Given the description of an element on the screen output the (x, y) to click on. 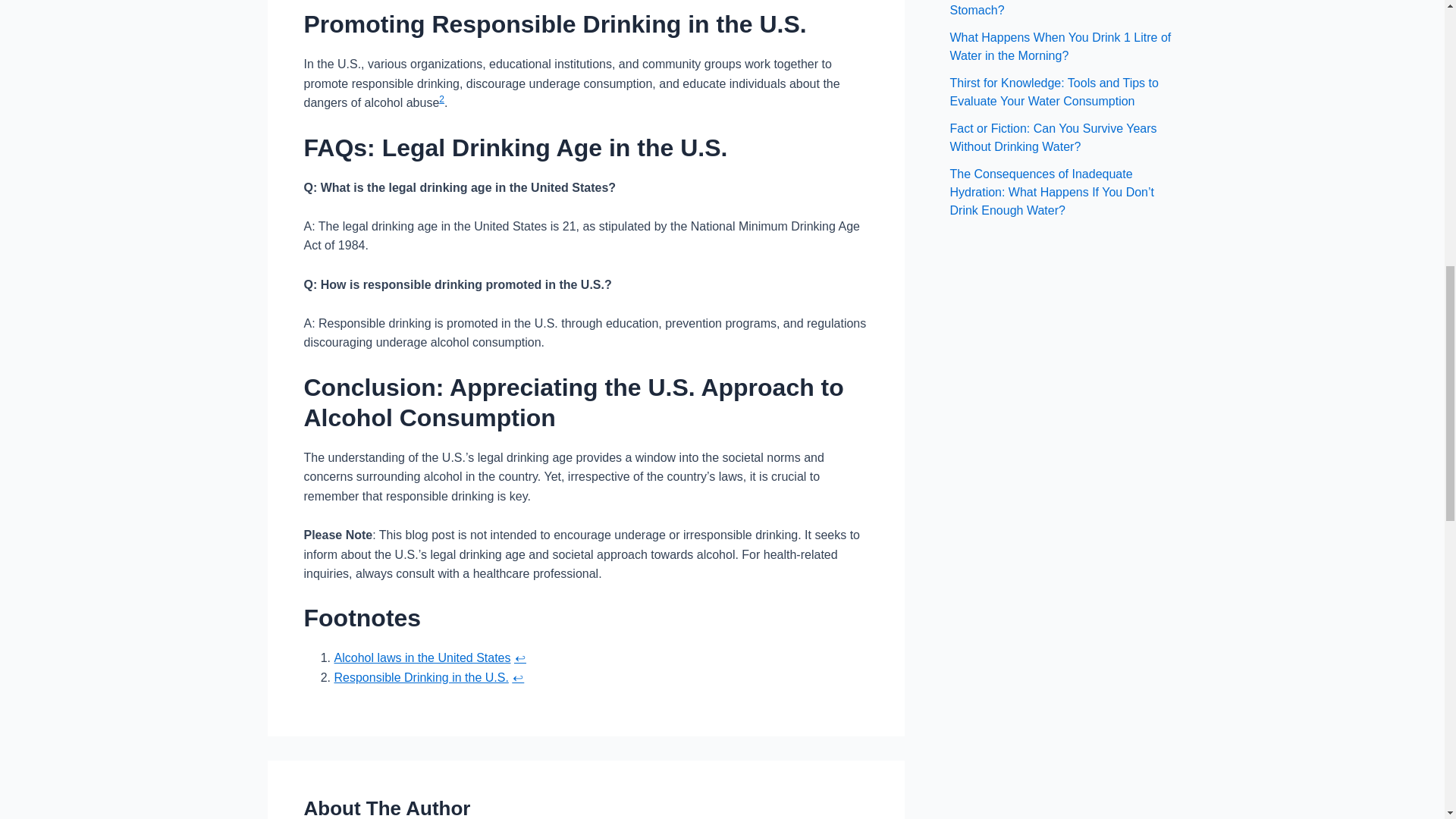
Responsible Drinking in the U.S. (420, 676)
Alcohol laws in the United States (422, 657)
